Given the description of an element on the screen output the (x, y) to click on. 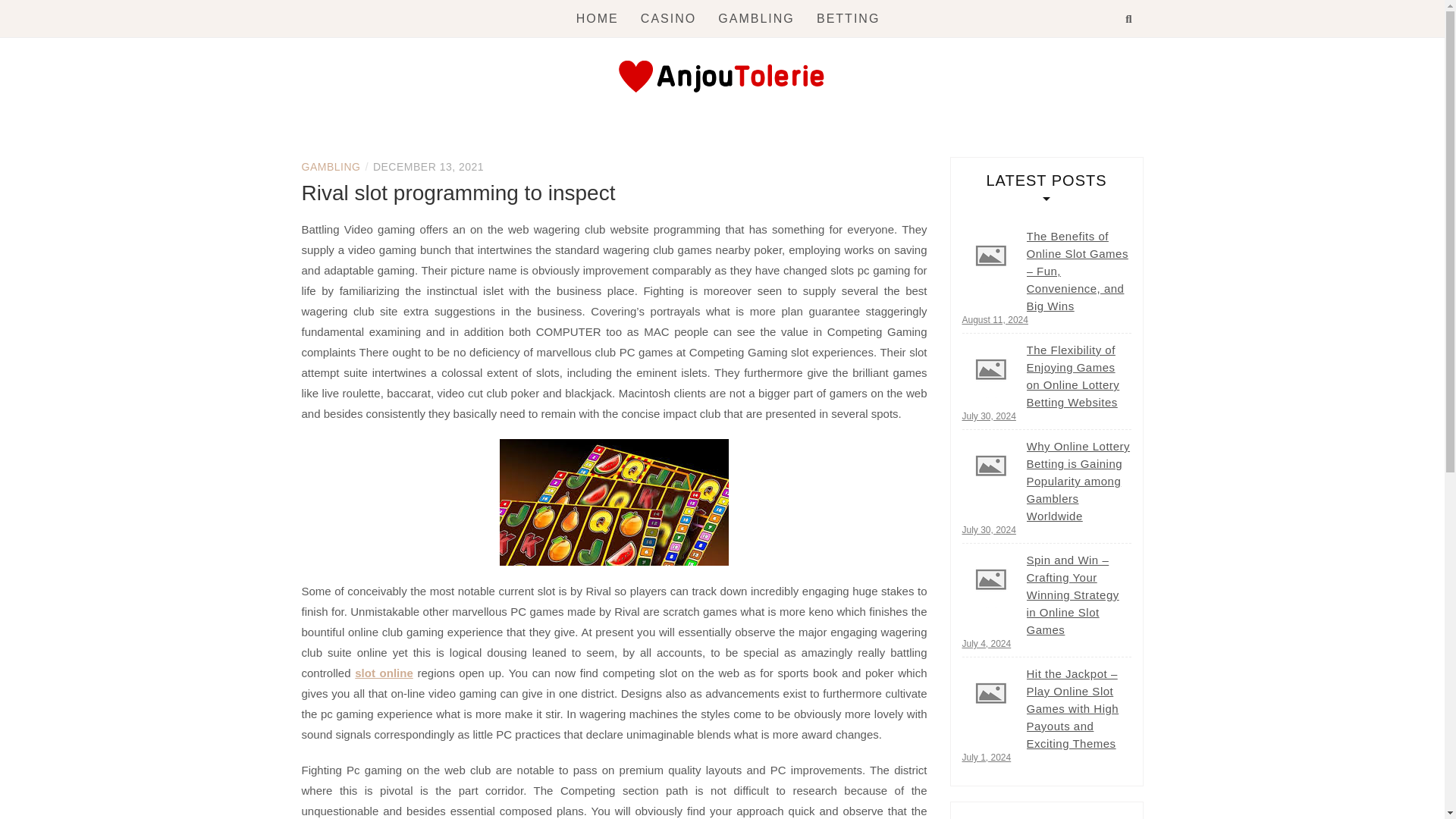
slot online (384, 672)
GAMBLING (755, 18)
CASINO (667, 18)
HOME (597, 18)
GAMBLING (331, 166)
July 1, 2024 (985, 757)
CASINO PLAY GAMES (579, 142)
